Given the description of an element on the screen output the (x, y) to click on. 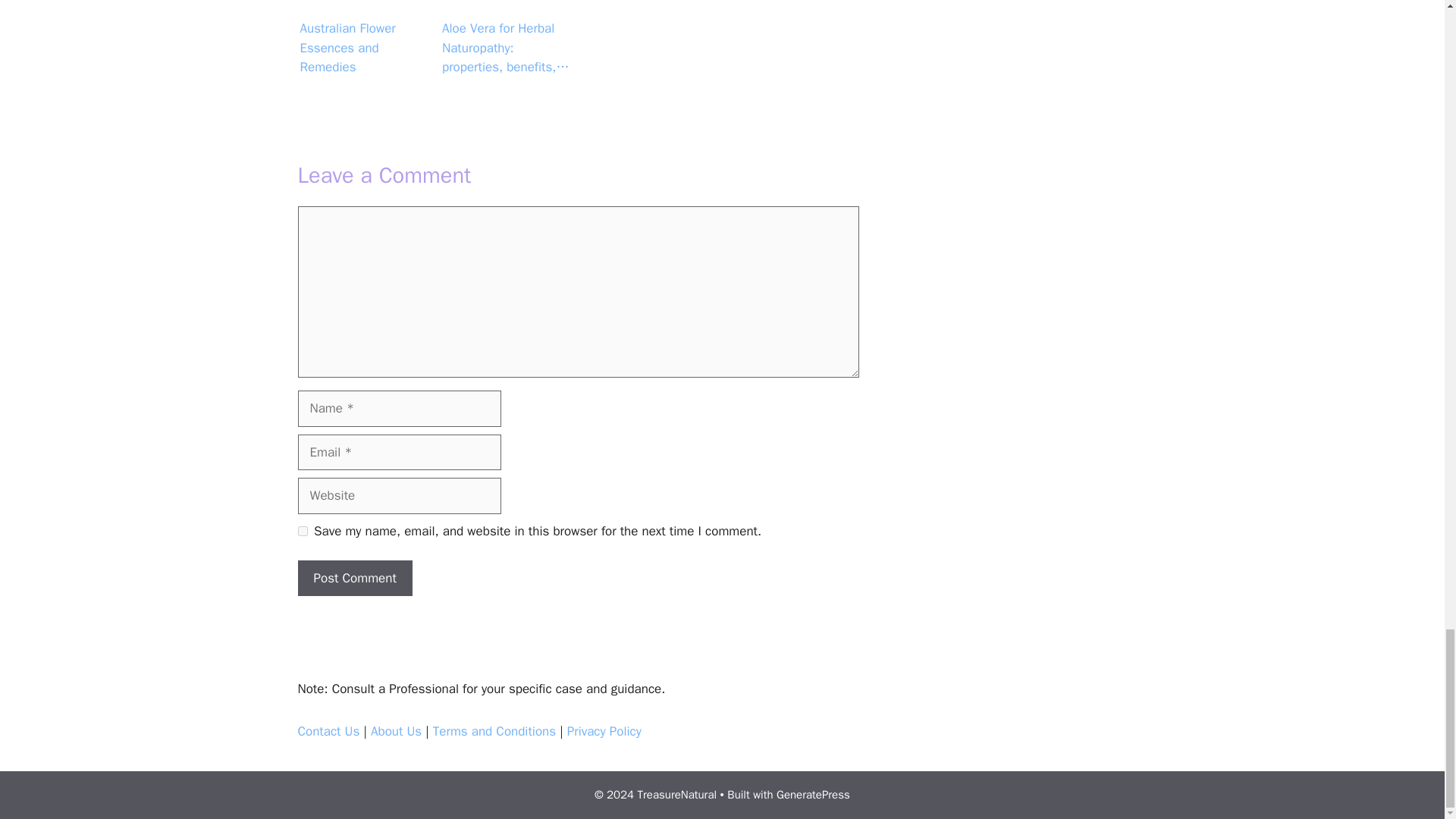
Post Comment (354, 578)
Australian Flower Essences and Remedies (364, 9)
Australian Flower Essences and Remedies (364, 39)
yes (302, 531)
